Given the description of an element on the screen output the (x, y) to click on. 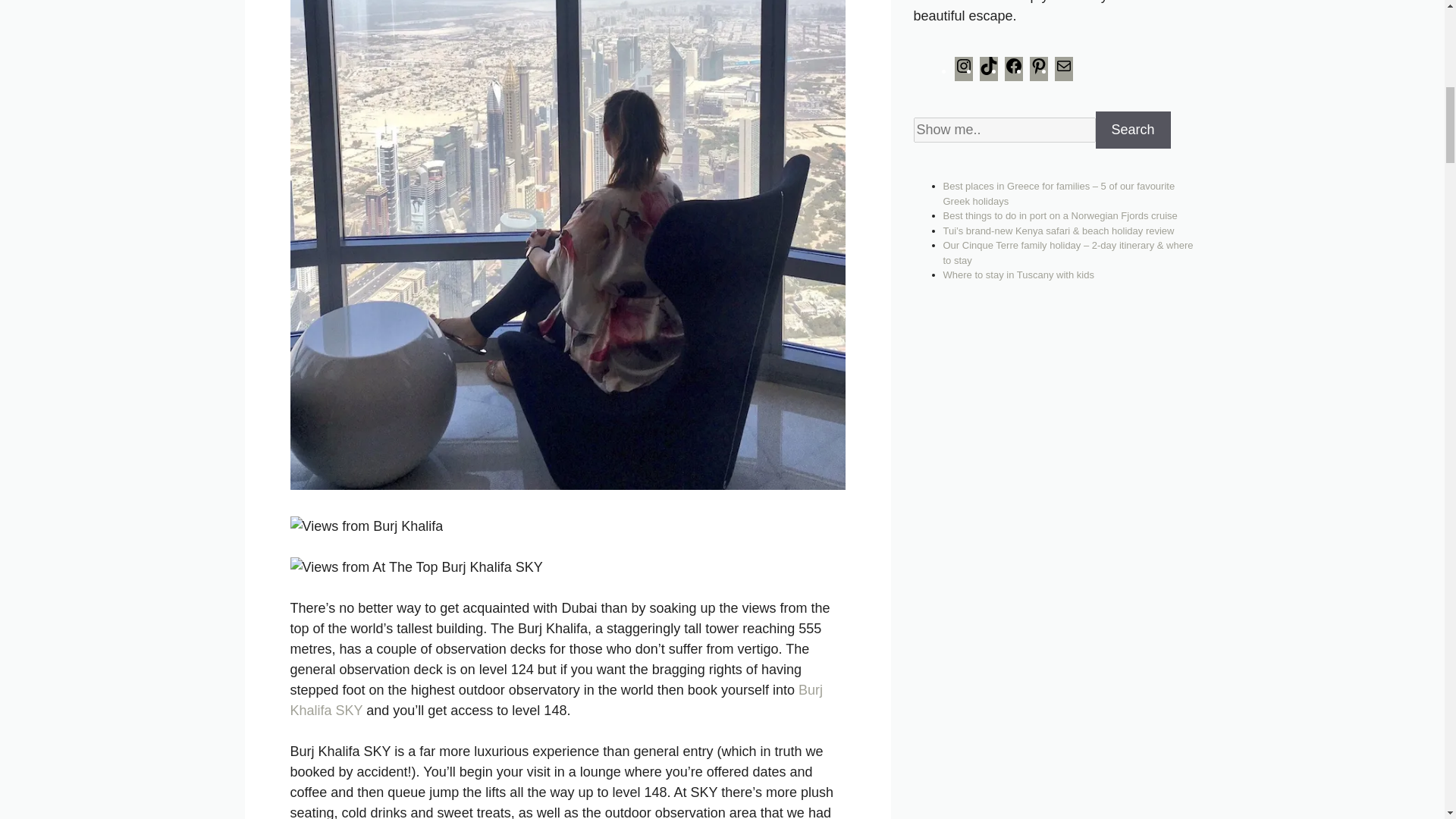
Burj Khalifa SKY (555, 700)
